Given the description of an element on the screen output the (x, y) to click on. 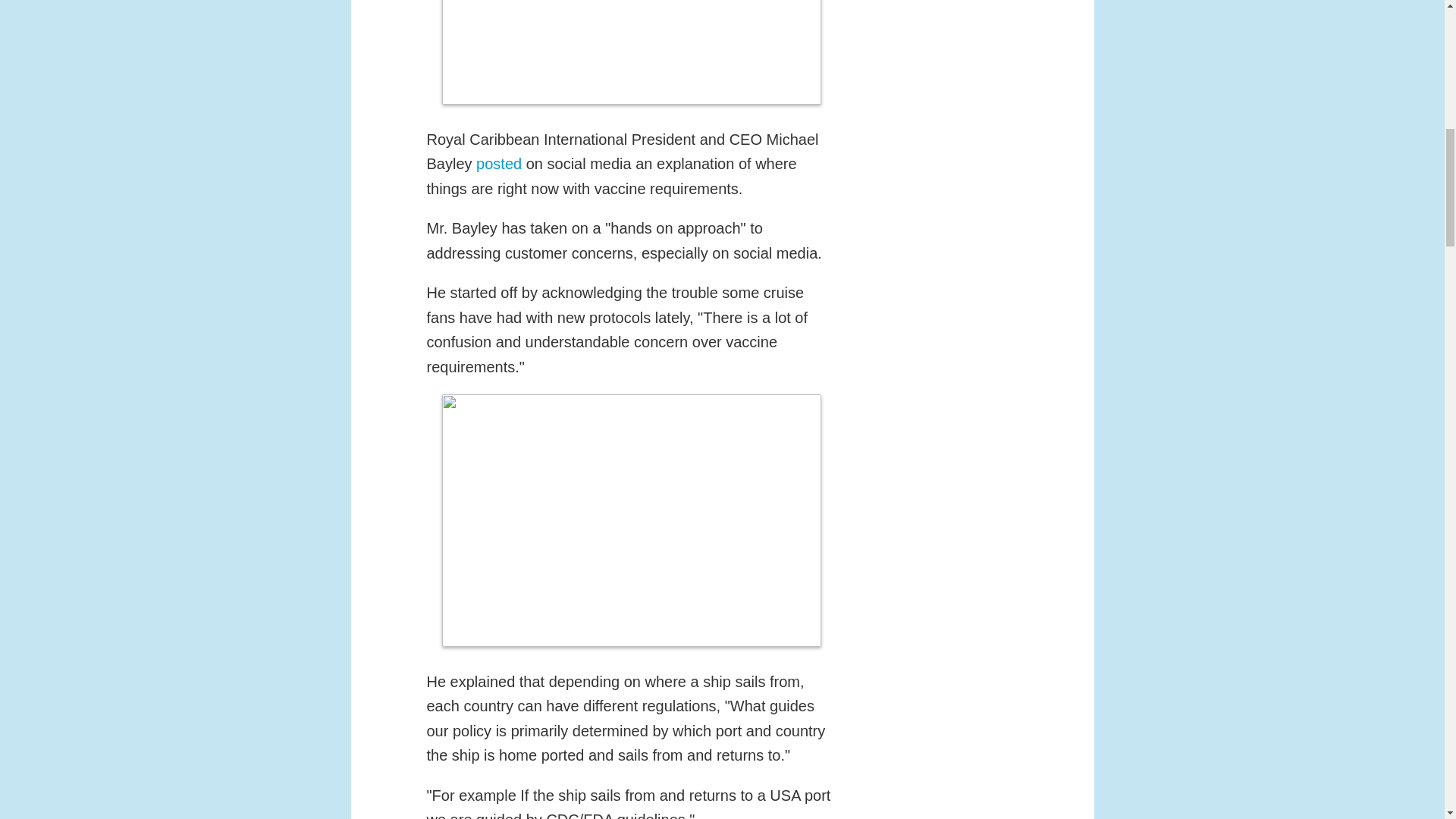
posted (498, 163)
